Given the description of an element on the screen output the (x, y) to click on. 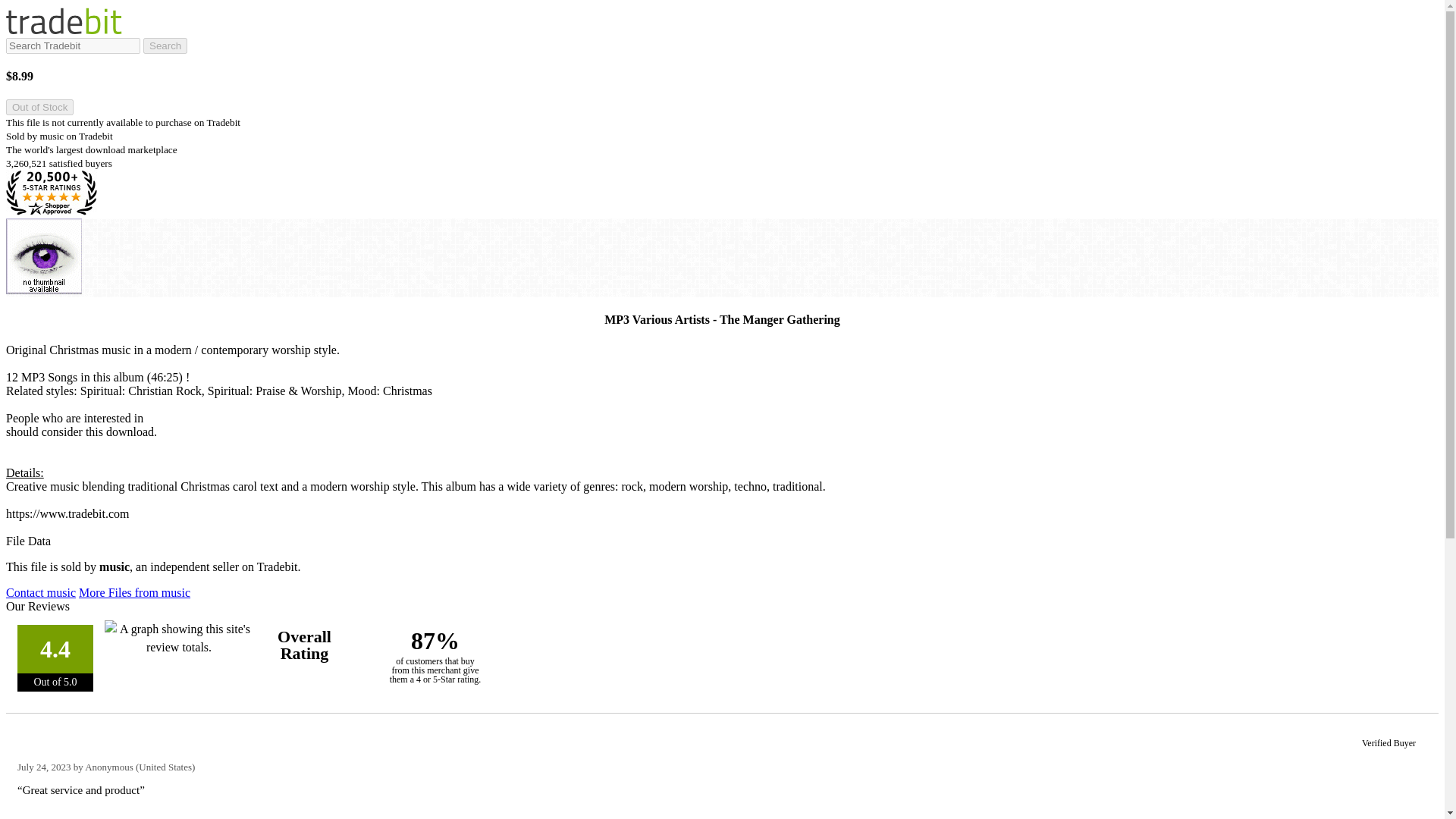
Search (164, 45)
Contact music (40, 592)
More Files from music (134, 592)
Out of Stock (39, 107)
